Given the description of an element on the screen output the (x, y) to click on. 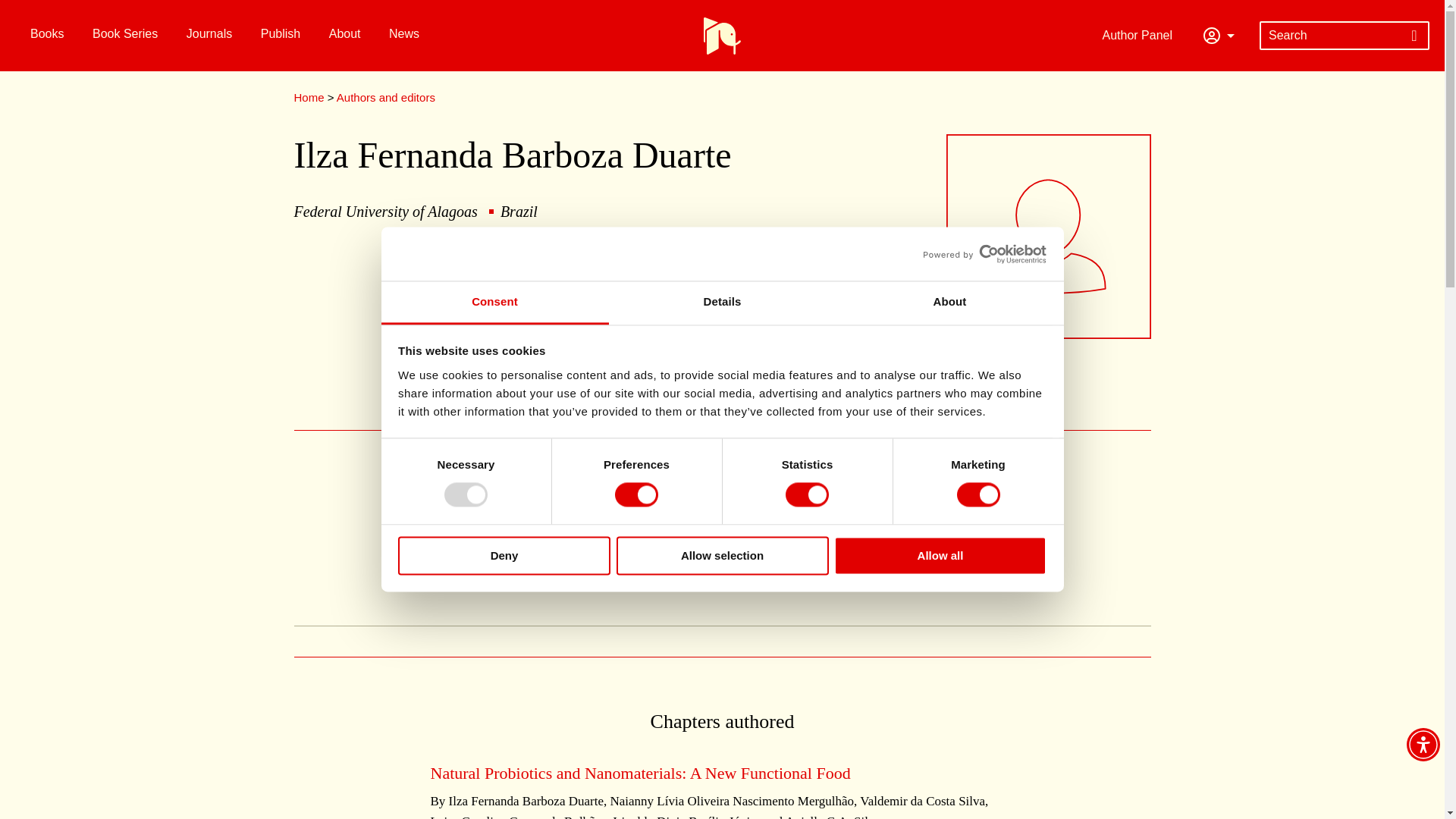
Accessibility Menu (1422, 744)
Details (721, 302)
About (948, 302)
Consent (494, 302)
